Given the description of an element on the screen output the (x, y) to click on. 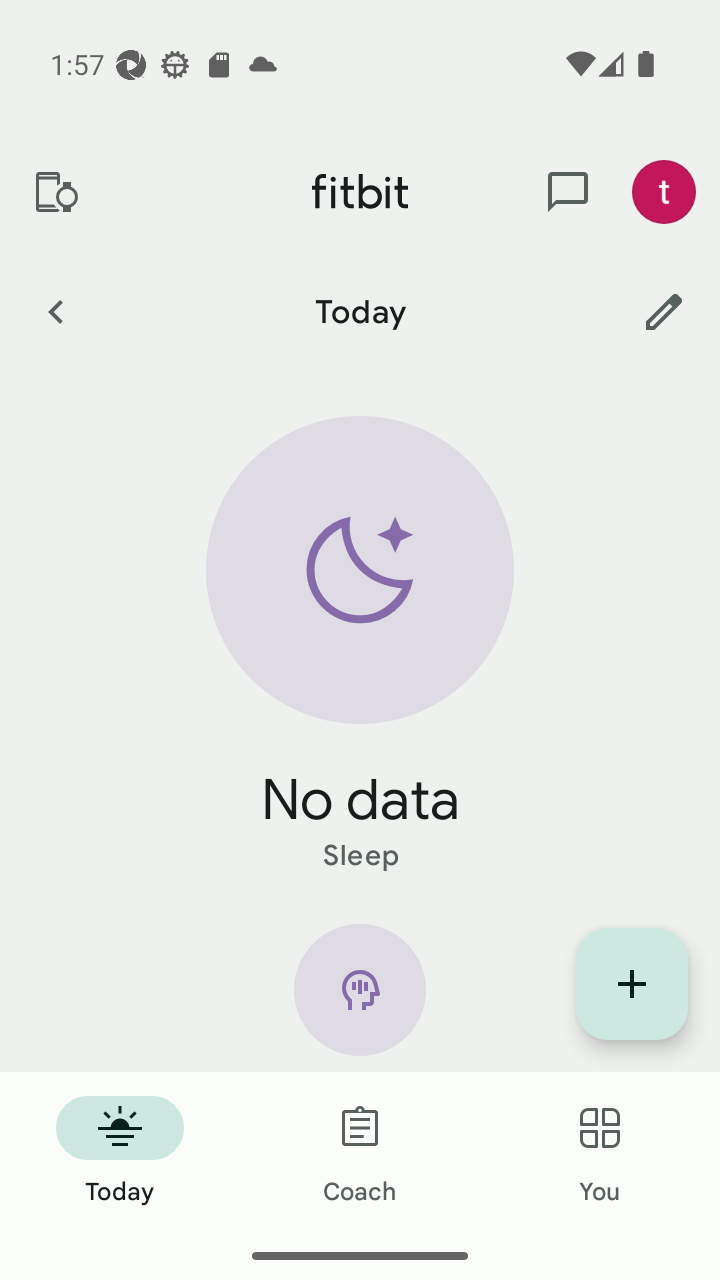
Devices and apps (55, 191)
messages and notifications (567, 191)
Previous Day (55, 311)
Customize (664, 311)
Sleep static hero arc No data Sleep (359, 645)
Mindfulness icon (360, 998)
Display list of quick log entries (632, 983)
Coach (359, 1151)
You (600, 1151)
